Given the description of an element on the screen output the (x, y) to click on. 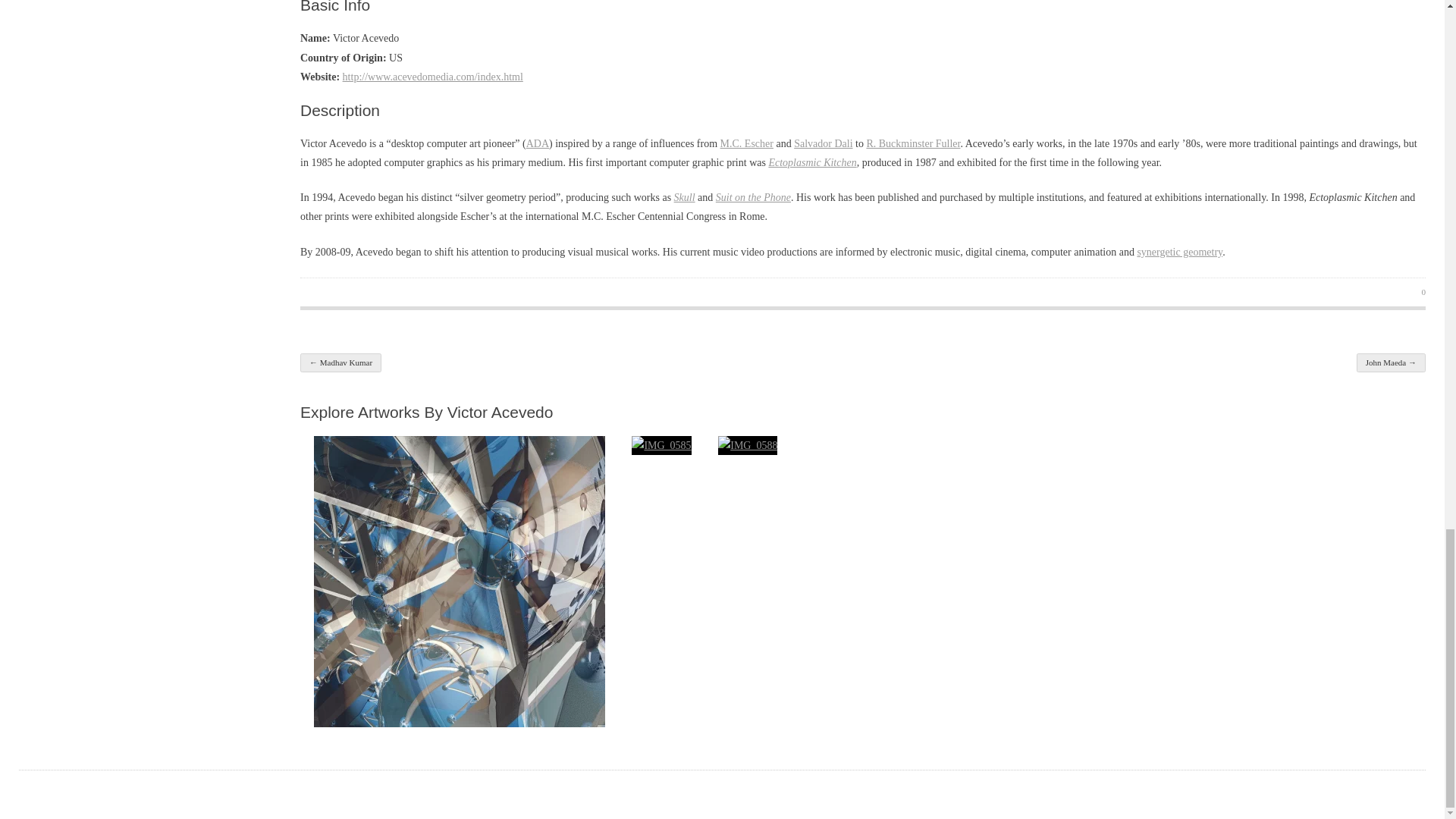
synergetic geometry (1180, 251)
0 (1413, 292)
ADA (536, 143)
Permalink to Sunburst Couple v03 (459, 581)
R. Buckminster Fuller (912, 143)
Permalink to The Violist (747, 445)
Ectoplasmic Kitchen (812, 162)
M.C. Escher (746, 143)
Skull (684, 197)
Salvador Dali (822, 143)
